Given the description of an element on the screen output the (x, y) to click on. 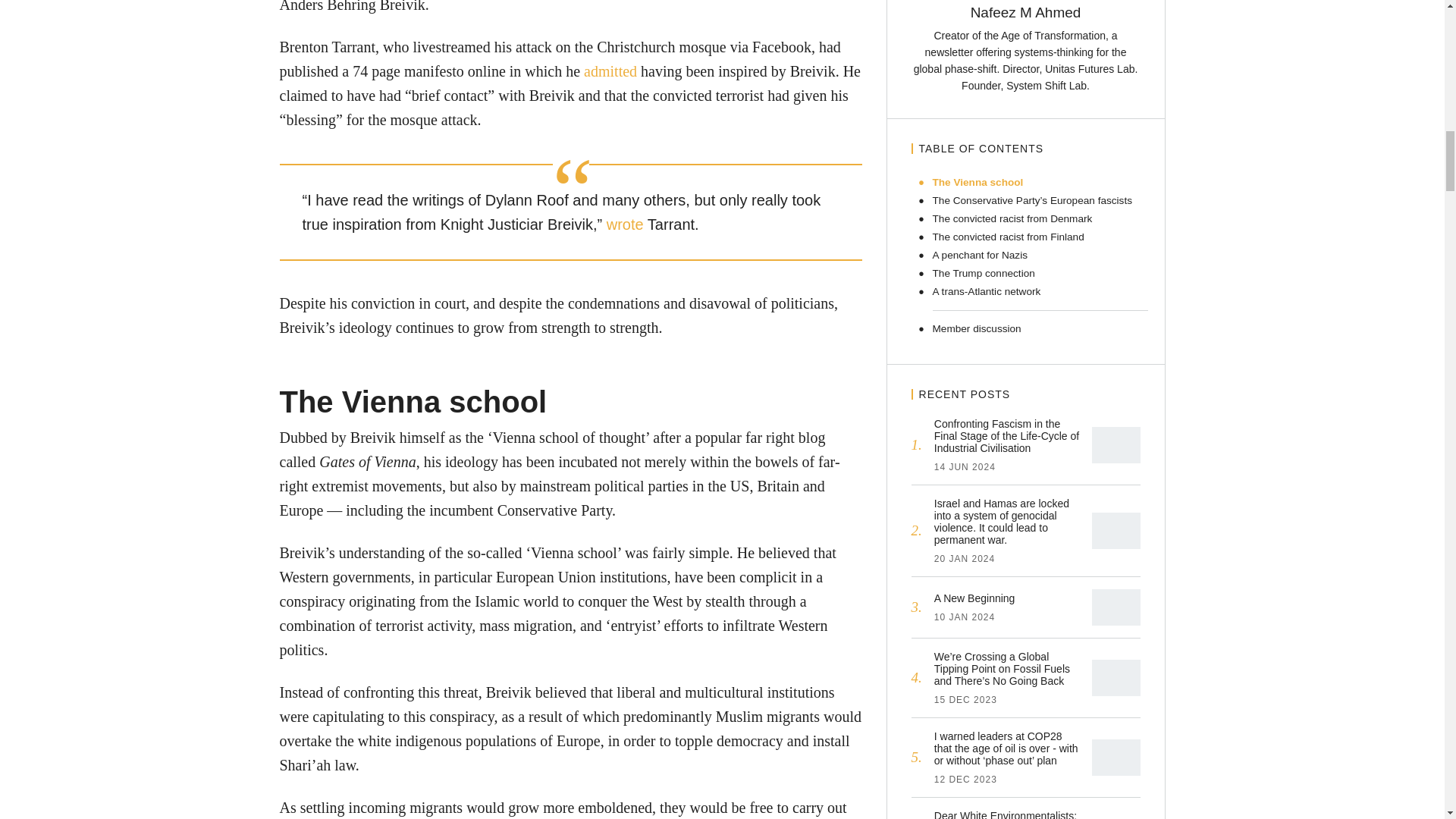
15 December 2023 (965, 699)
20 January 2024 (964, 558)
14 June 2024 (964, 466)
wrote (625, 225)
12 December 2023 (965, 778)
admitted (610, 72)
10 January 2024 (964, 616)
